Given the description of an element on the screen output the (x, y) to click on. 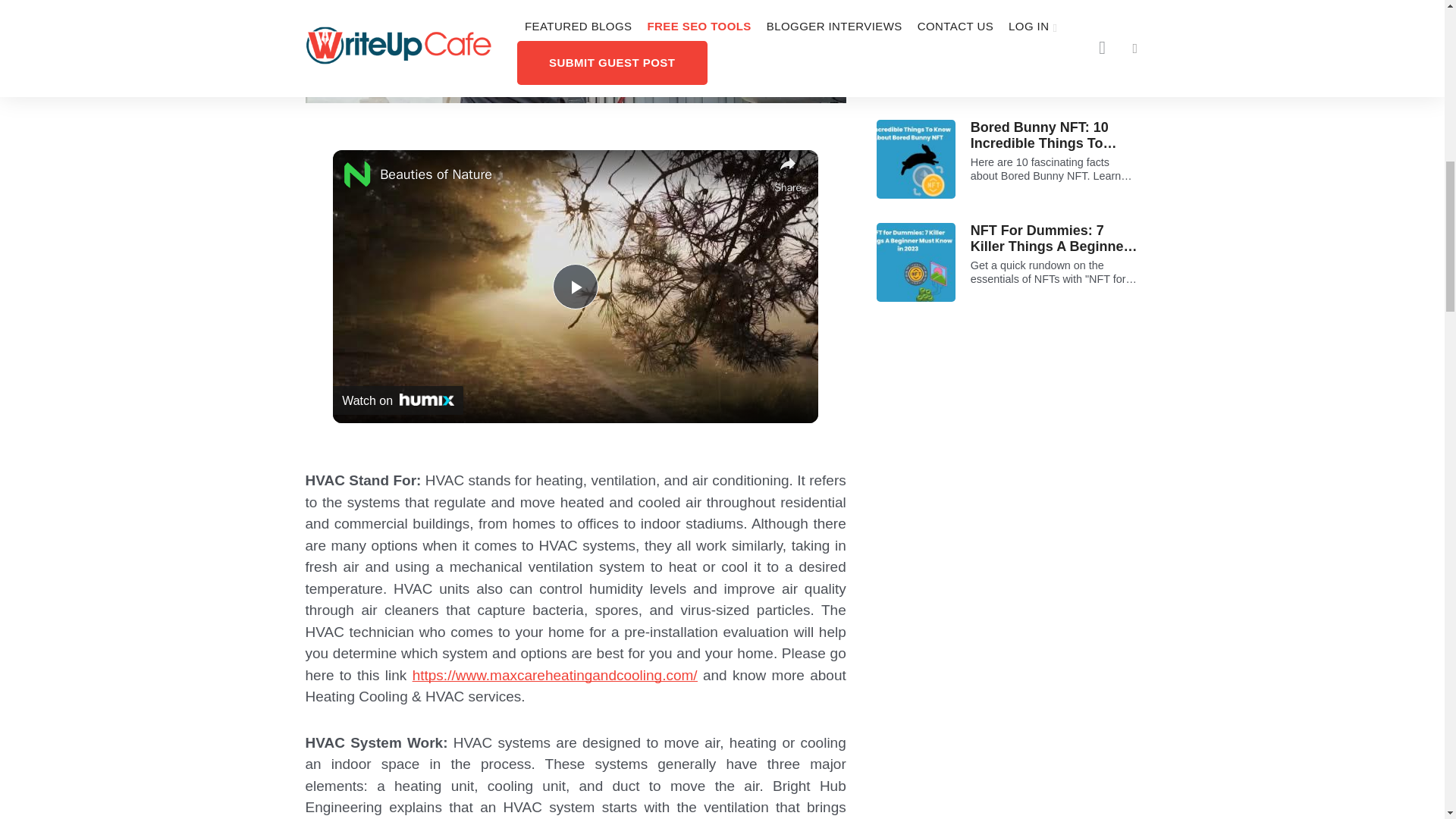
Play Video (575, 286)
Play Video (575, 286)
Watch on (398, 399)
Beauties of Nature (573, 174)
